Given the description of an element on the screen output the (x, y) to click on. 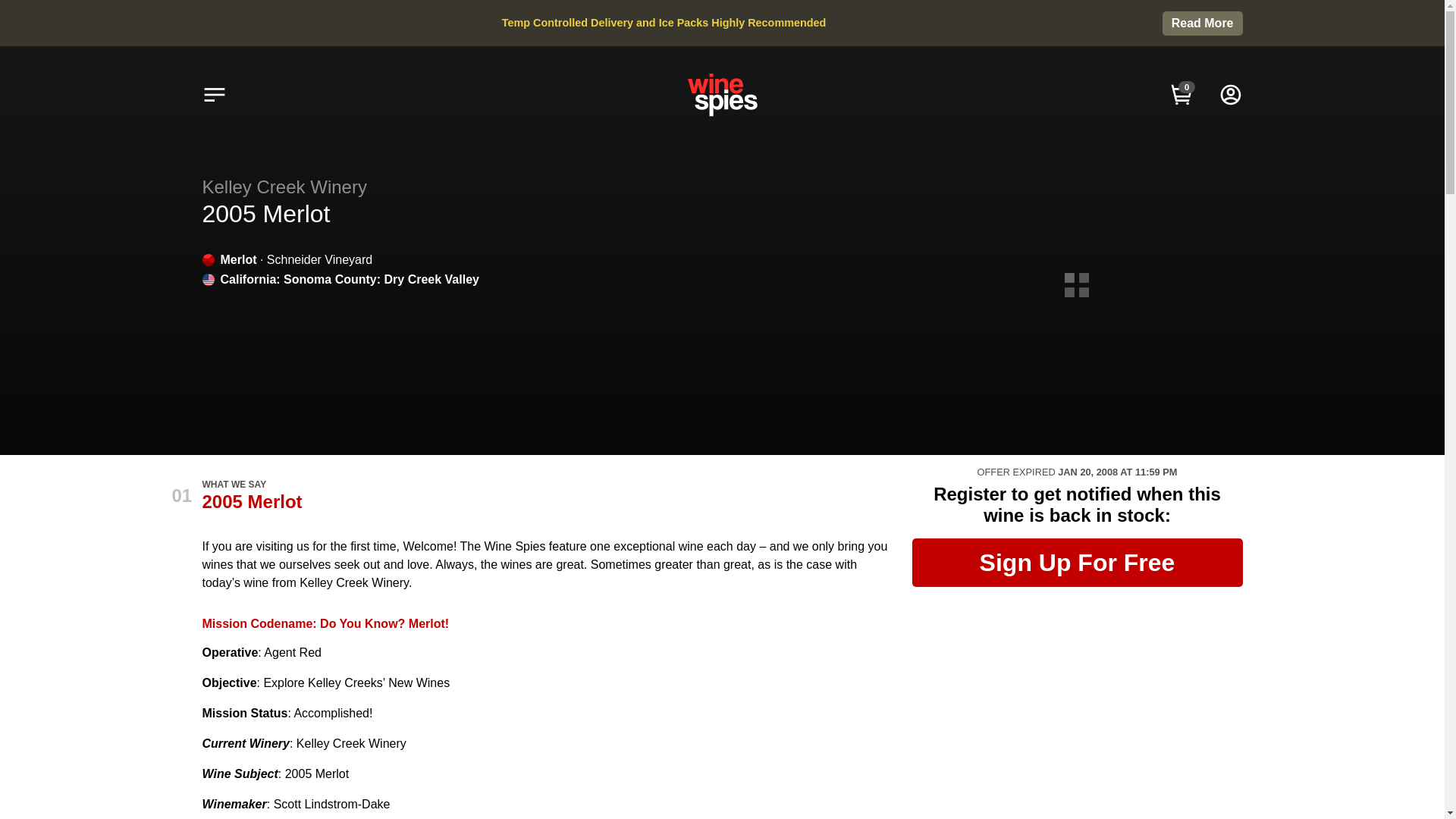
Read More (1202, 23)
0 (1181, 94)
Sign Up For Free (1076, 562)
